Given the description of an element on the screen output the (x, y) to click on. 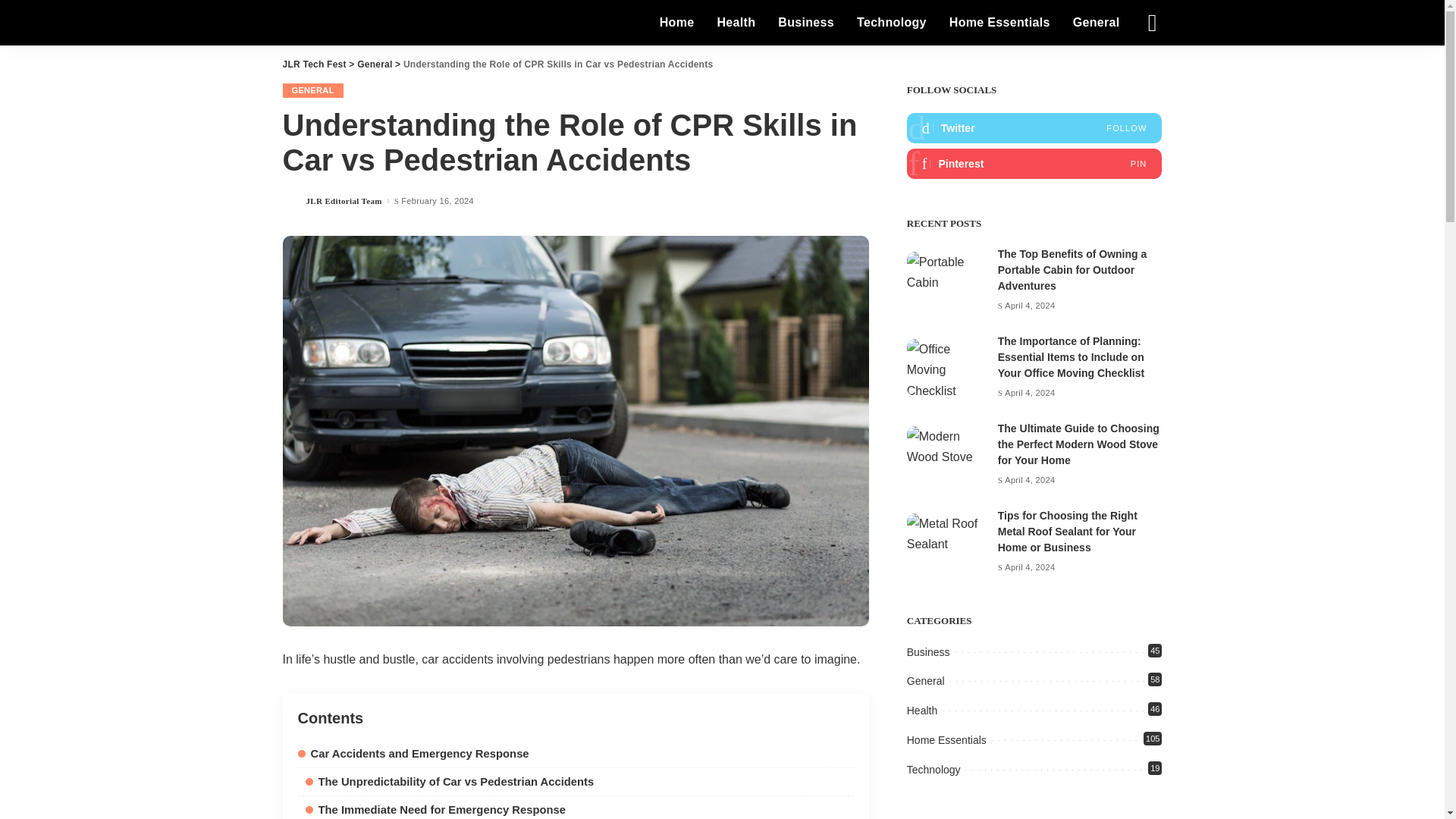
Health (735, 22)
GENERAL (312, 90)
JLR Tech Fest (314, 63)
Go to the General Category archives. (373, 63)
Business (806, 22)
Search (1140, 65)
Search (1140, 5)
Technology (891, 22)
